Given the description of an element on the screen output the (x, y) to click on. 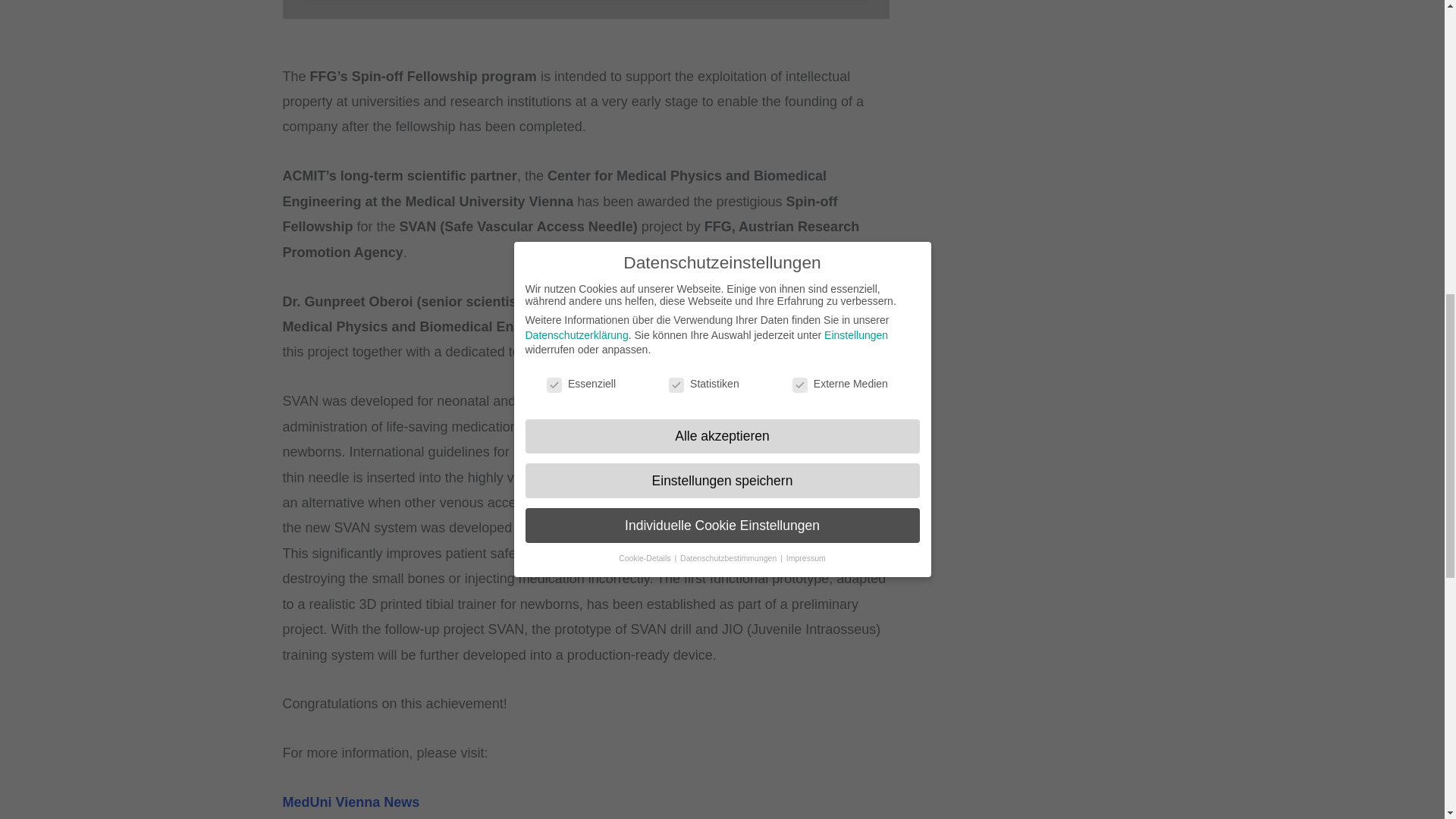
Bild Web 2 (585, 9)
